Given the description of an element on the screen output the (x, y) to click on. 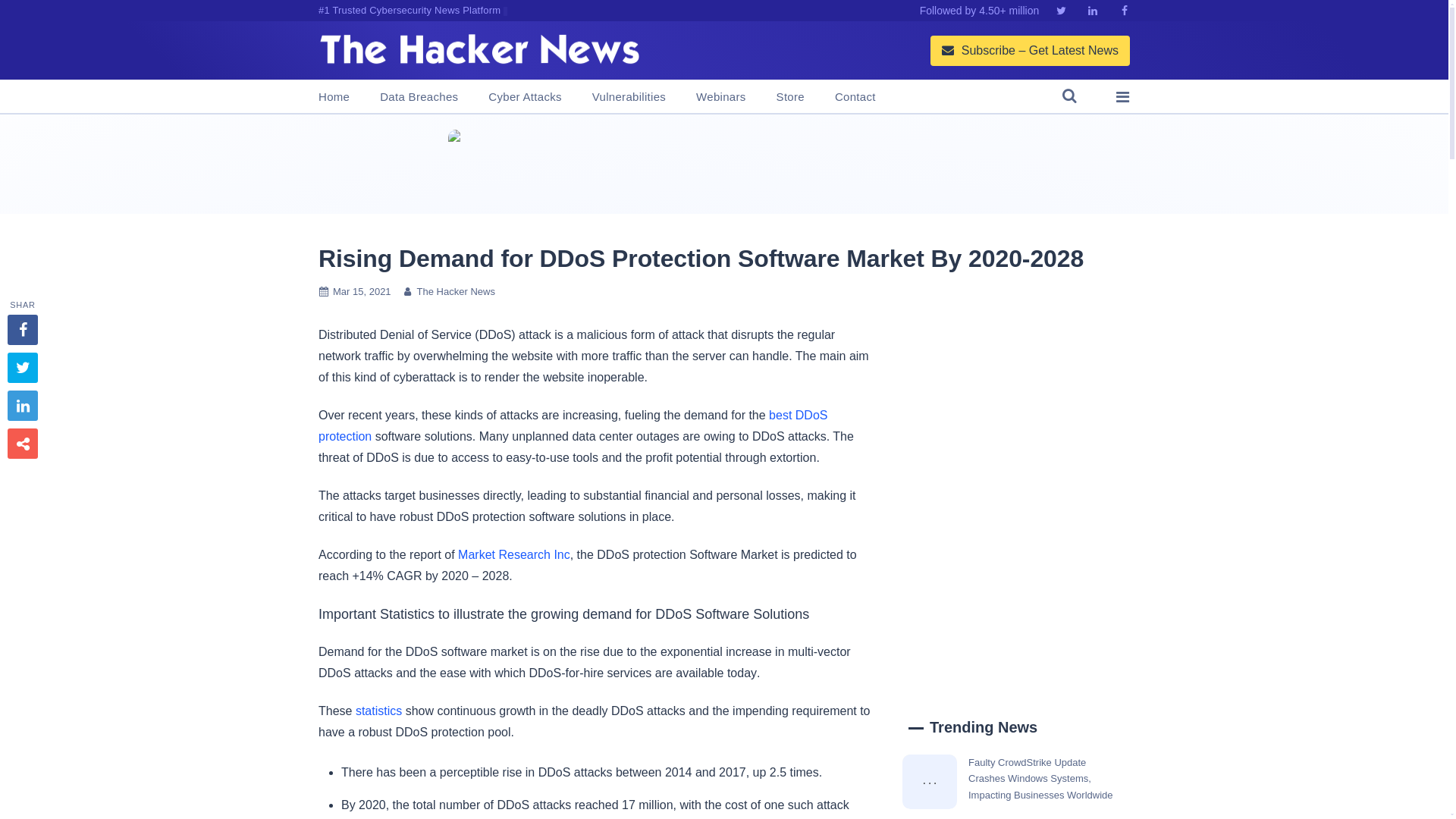
Data Breaches (419, 96)
Insider Risk Management (723, 164)
best DDoS protection (572, 425)
Market Research Inc (514, 554)
Webinars (720, 96)
Home (333, 96)
Cyber Attacks (523, 96)
Contact (855, 96)
statistics (378, 710)
Vulnerabilities (628, 96)
